Given the description of an element on the screen output the (x, y) to click on. 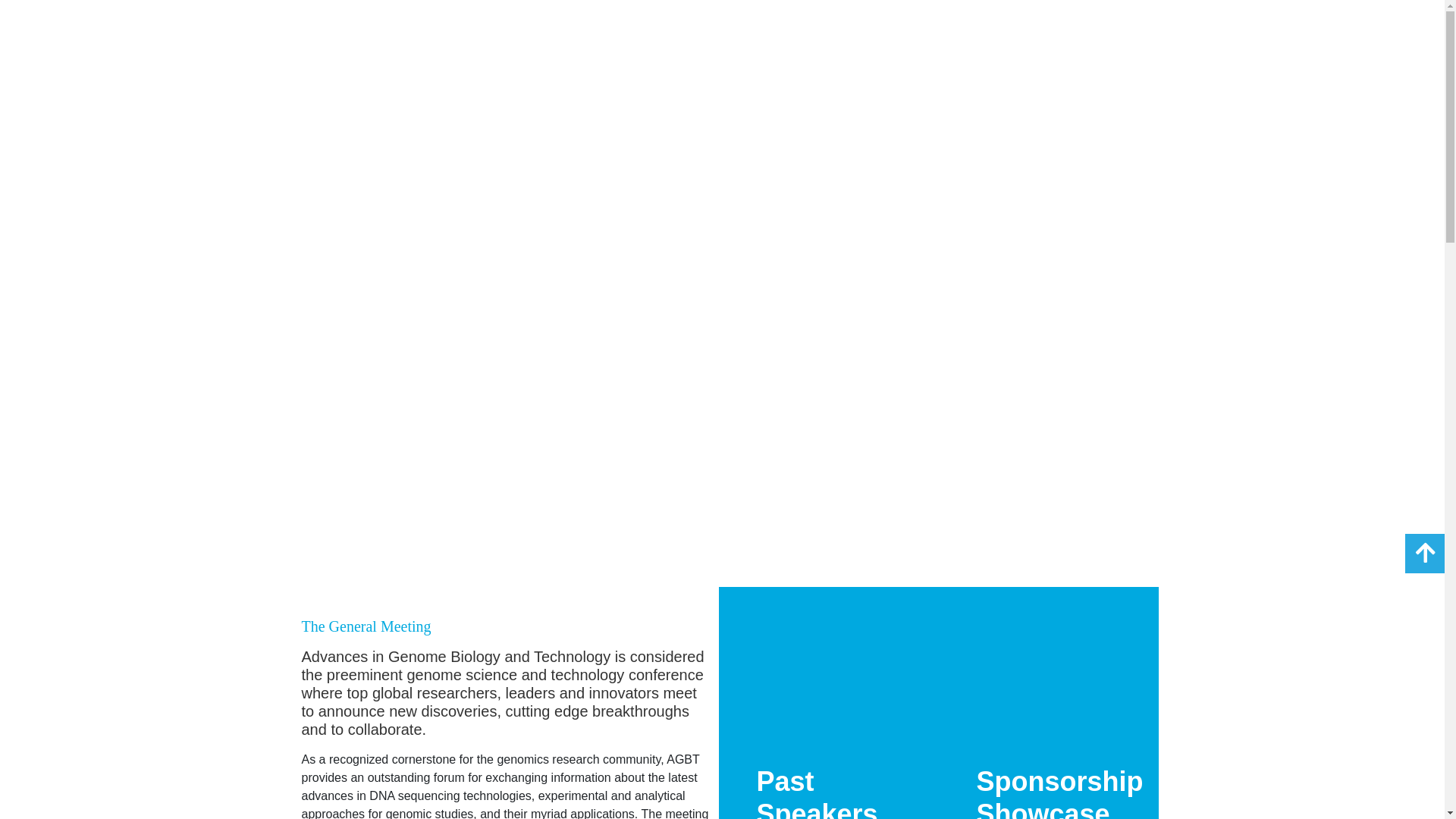
Contact (734, 39)
Events (413, 39)
Home (311, 39)
About (630, 39)
Events (413, 39)
Media (524, 39)
Home (311, 39)
